Given the description of an element on the screen output the (x, y) to click on. 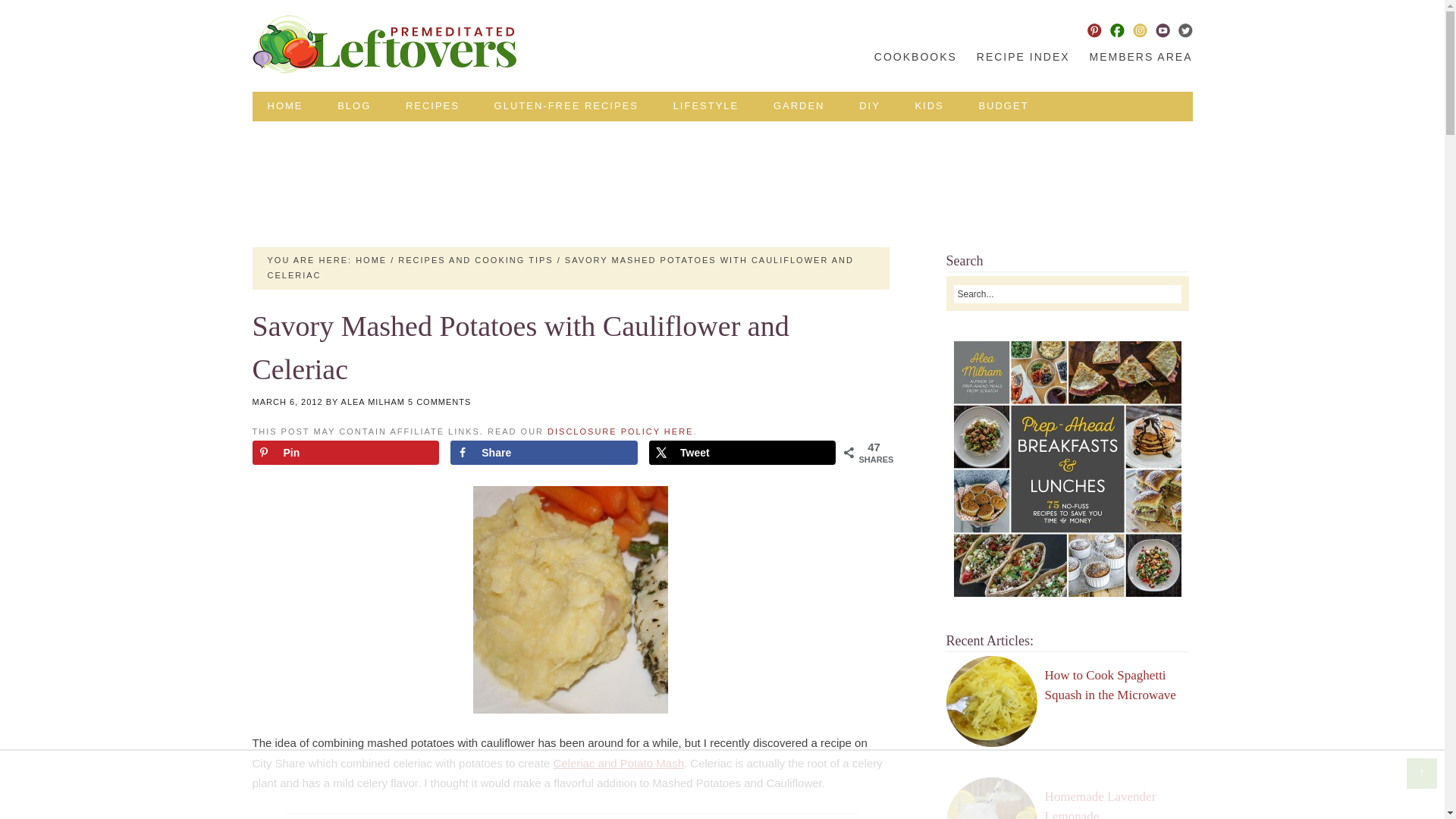
RECIPES (432, 106)
MEMBERS AREA (1136, 56)
COOKBOOKS (914, 56)
BLOG (353, 106)
HOME (284, 106)
HOME (371, 259)
KIDS (928, 106)
LIFESTYLE (706, 106)
Save to Pinterest (344, 452)
BUDGET (1002, 106)
Share on Facebook (543, 452)
GARDEN (799, 106)
GLUTEN-FREE RECIPES (566, 106)
Share on X (742, 452)
